Given the description of an element on the screen output the (x, y) to click on. 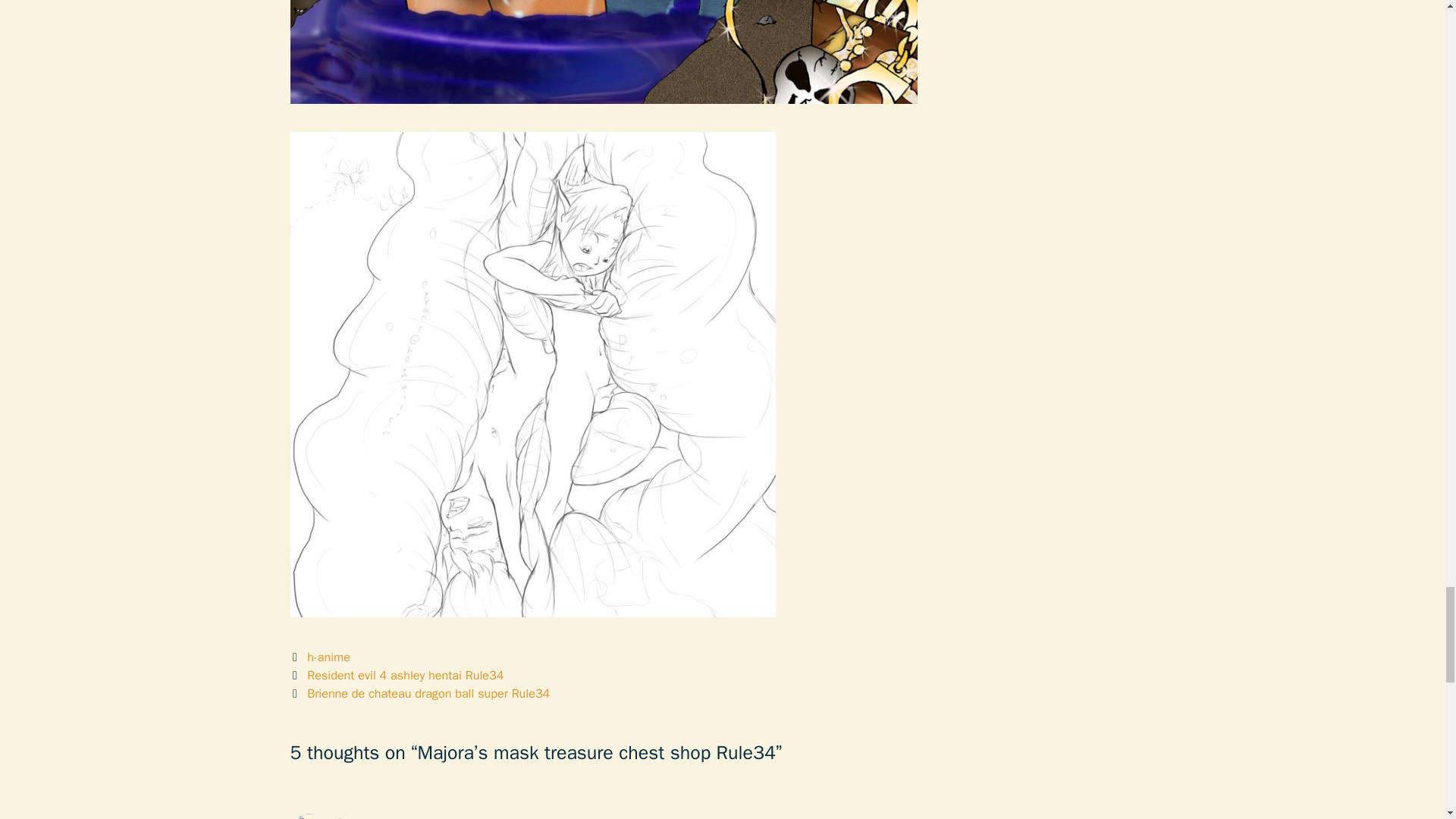
Previous (396, 675)
Brienne de chateau dragon ball super Rule34 (428, 693)
h-anime (328, 657)
Next (419, 693)
Resident evil 4 ashley hentai Rule34 (405, 675)
